Given the description of an element on the screen output the (x, y) to click on. 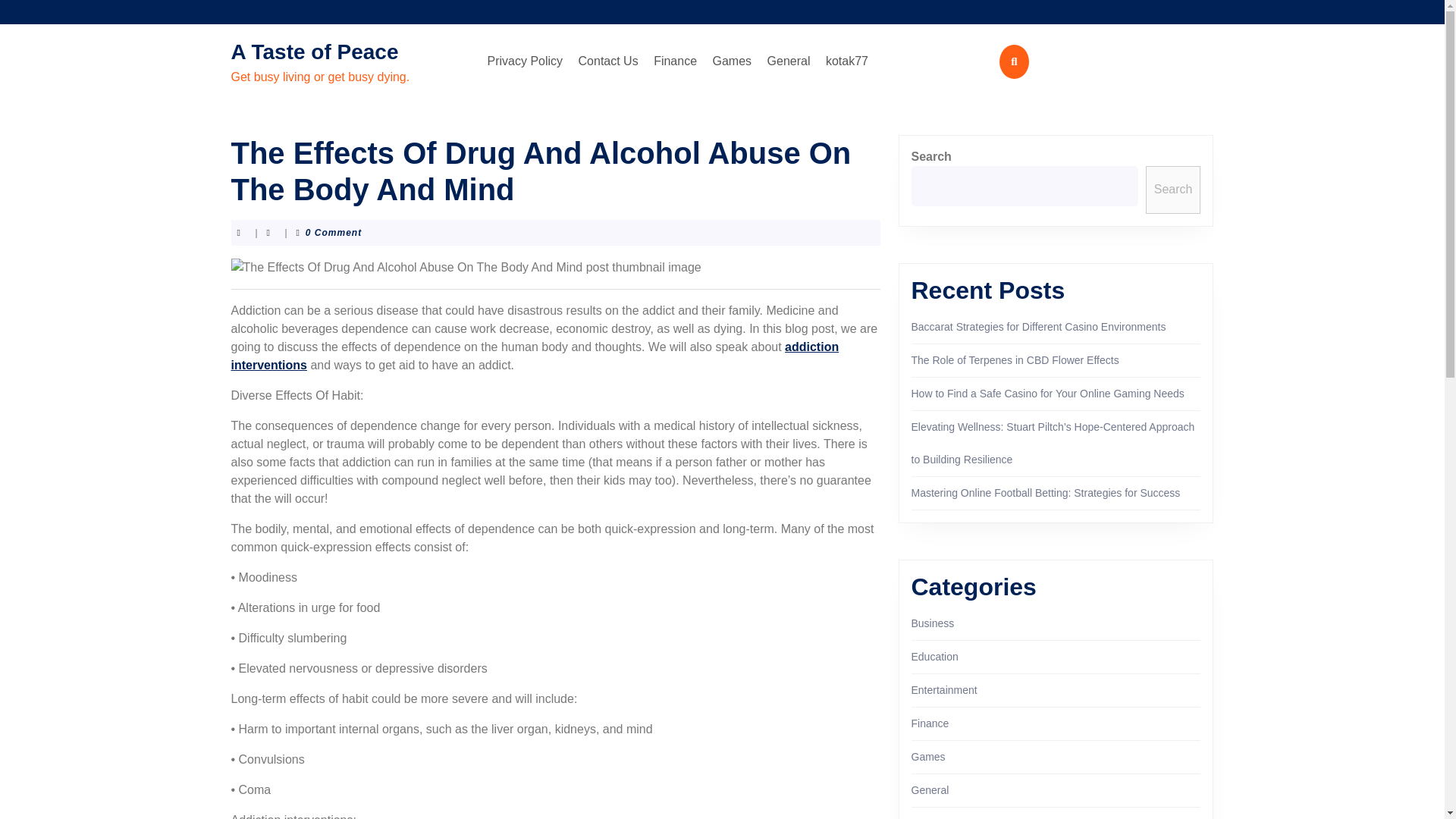
Business (933, 623)
Finance (930, 723)
Games (732, 60)
Baccarat Strategies for Different Casino Environments (1038, 326)
Finance (675, 60)
Contact Us (608, 60)
The Role of Terpenes in CBD Flower Effects (1015, 359)
A Taste of Peace (313, 51)
Mastering Online Football Betting: Strategies for Success (1045, 492)
How to Find a Safe Casino for Your Online Gaming Needs (1048, 393)
